Given the description of an element on the screen output the (x, y) to click on. 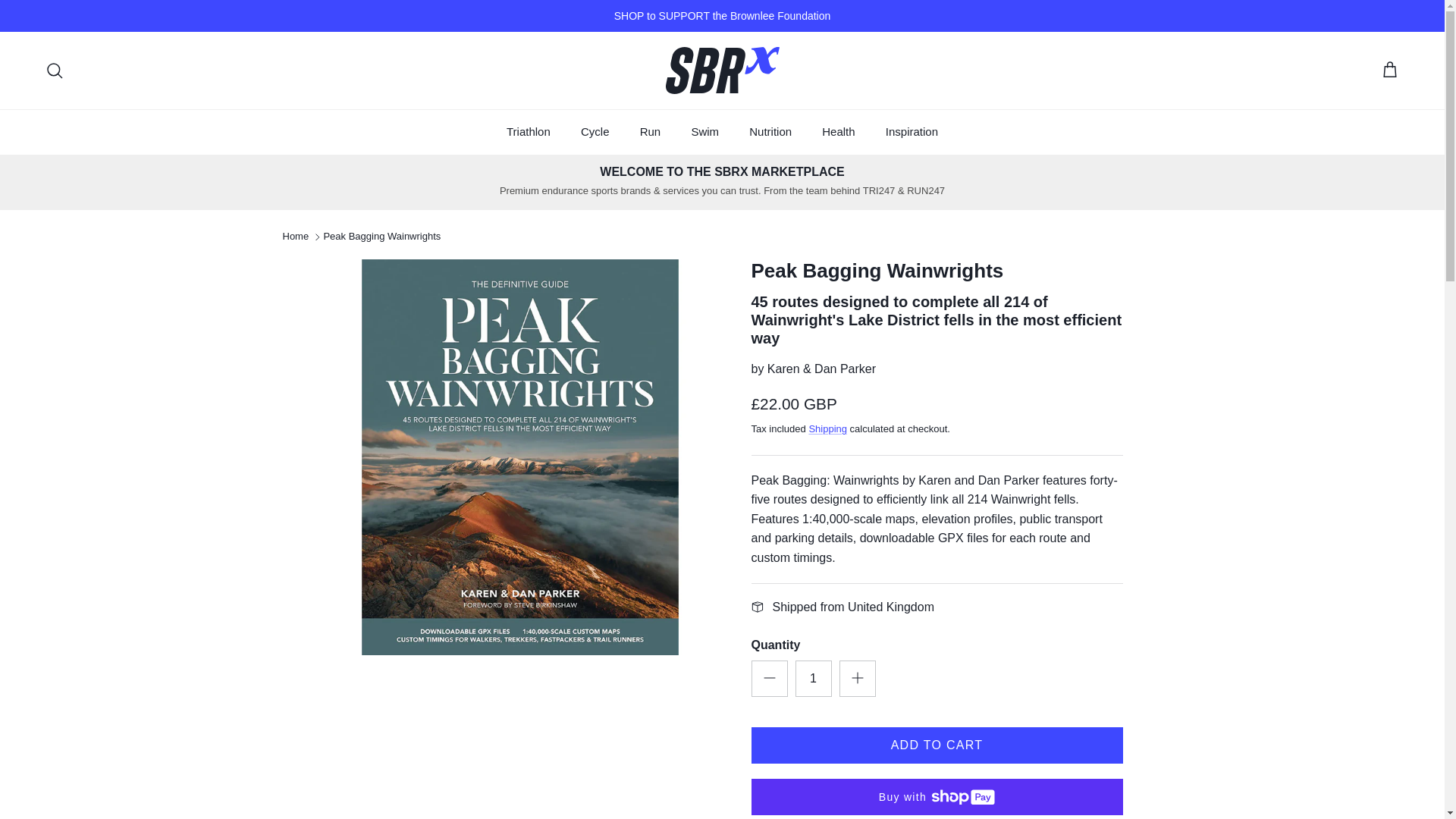
Triathlon (528, 131)
SBRX (721, 70)
Cycle (595, 131)
Cart (1389, 70)
Search (54, 70)
1 (812, 678)
